Given the description of an element on the screen output the (x, y) to click on. 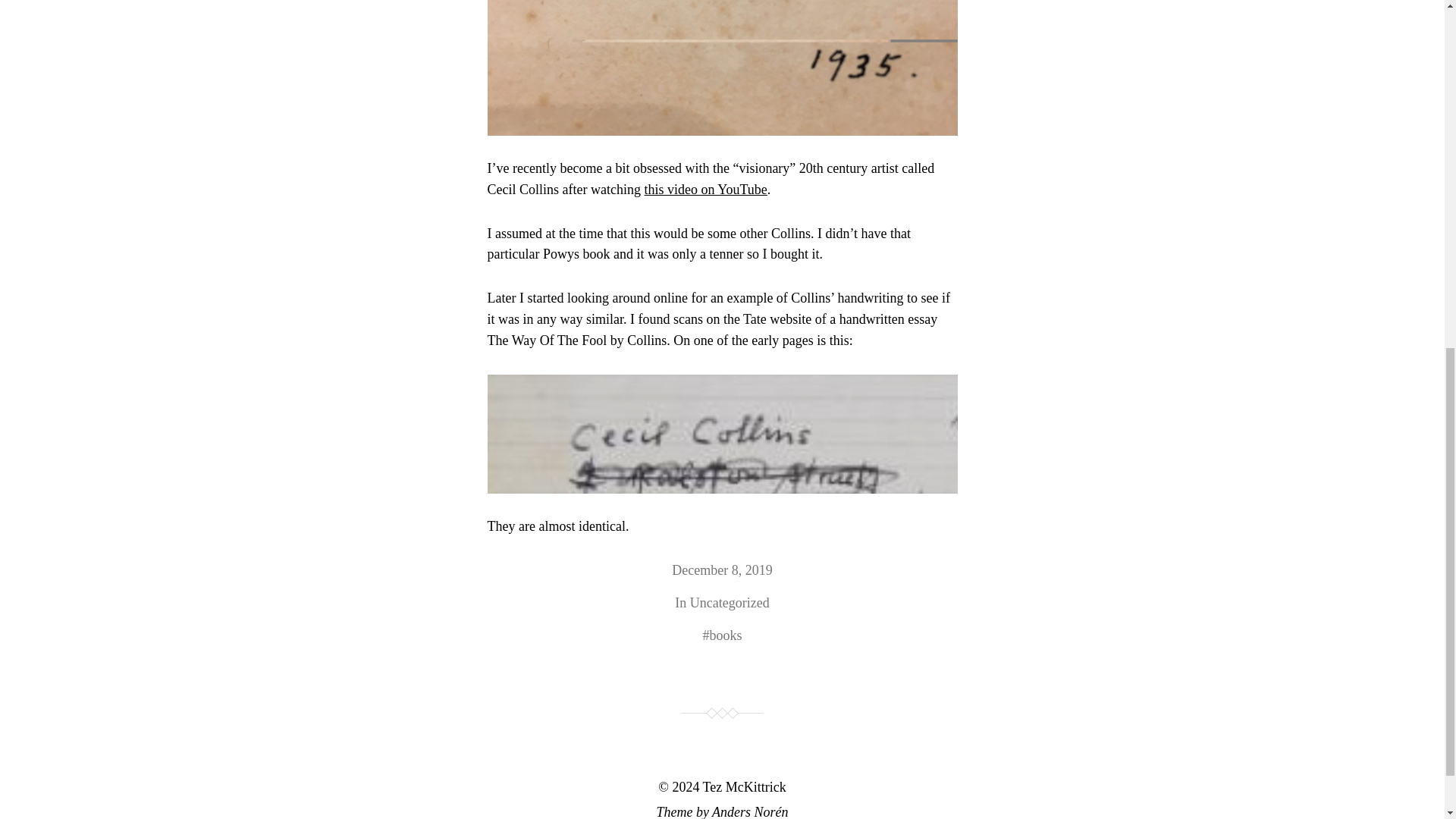
December 8, 2019 (721, 570)
books (725, 635)
this video on YouTube (705, 189)
Uncategorized (730, 602)
Tez McKittrick (744, 786)
